Given the description of an element on the screen output the (x, y) to click on. 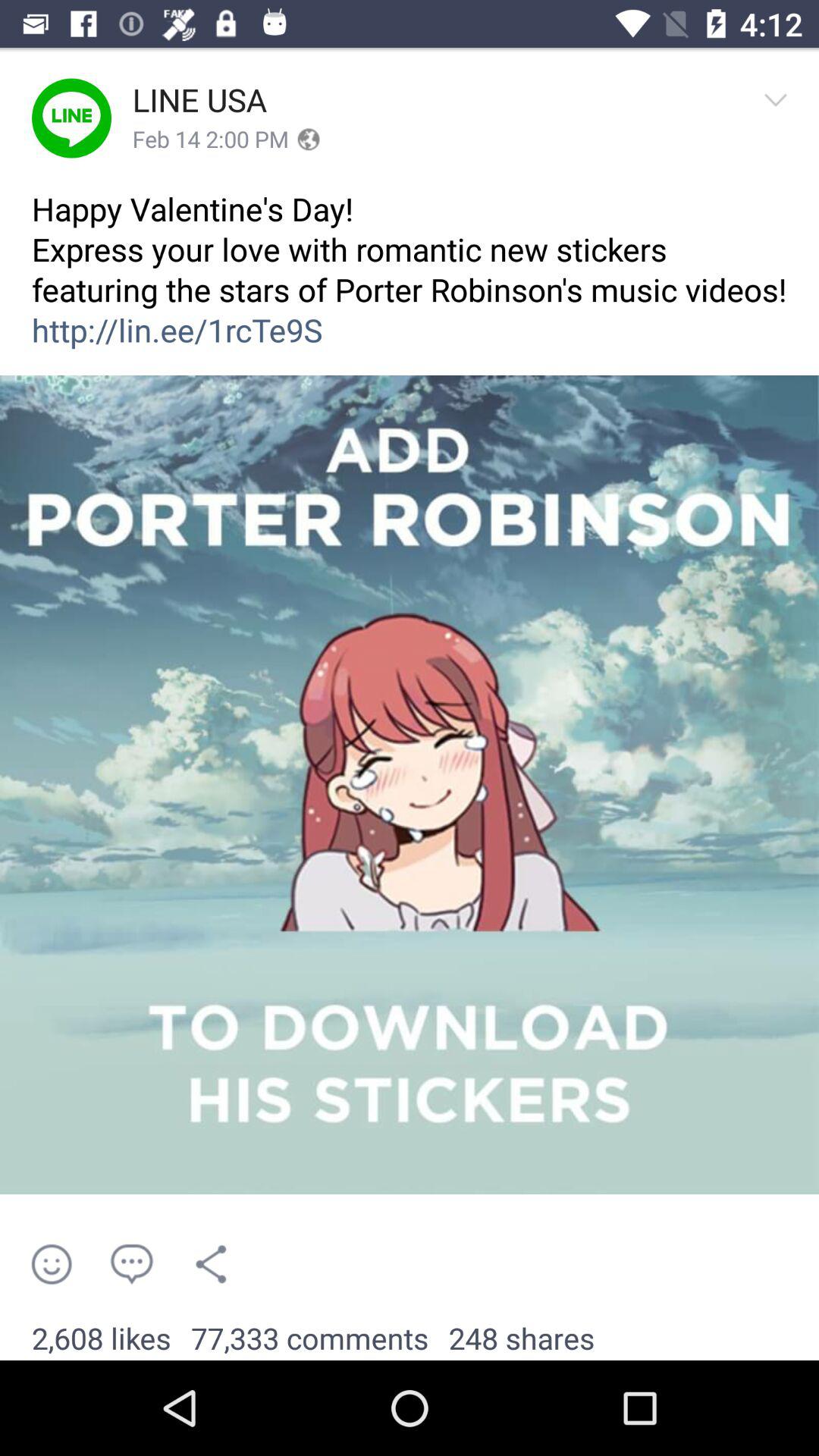
open happy valentine s item (409, 281)
